Given the description of an element on the screen output the (x, y) to click on. 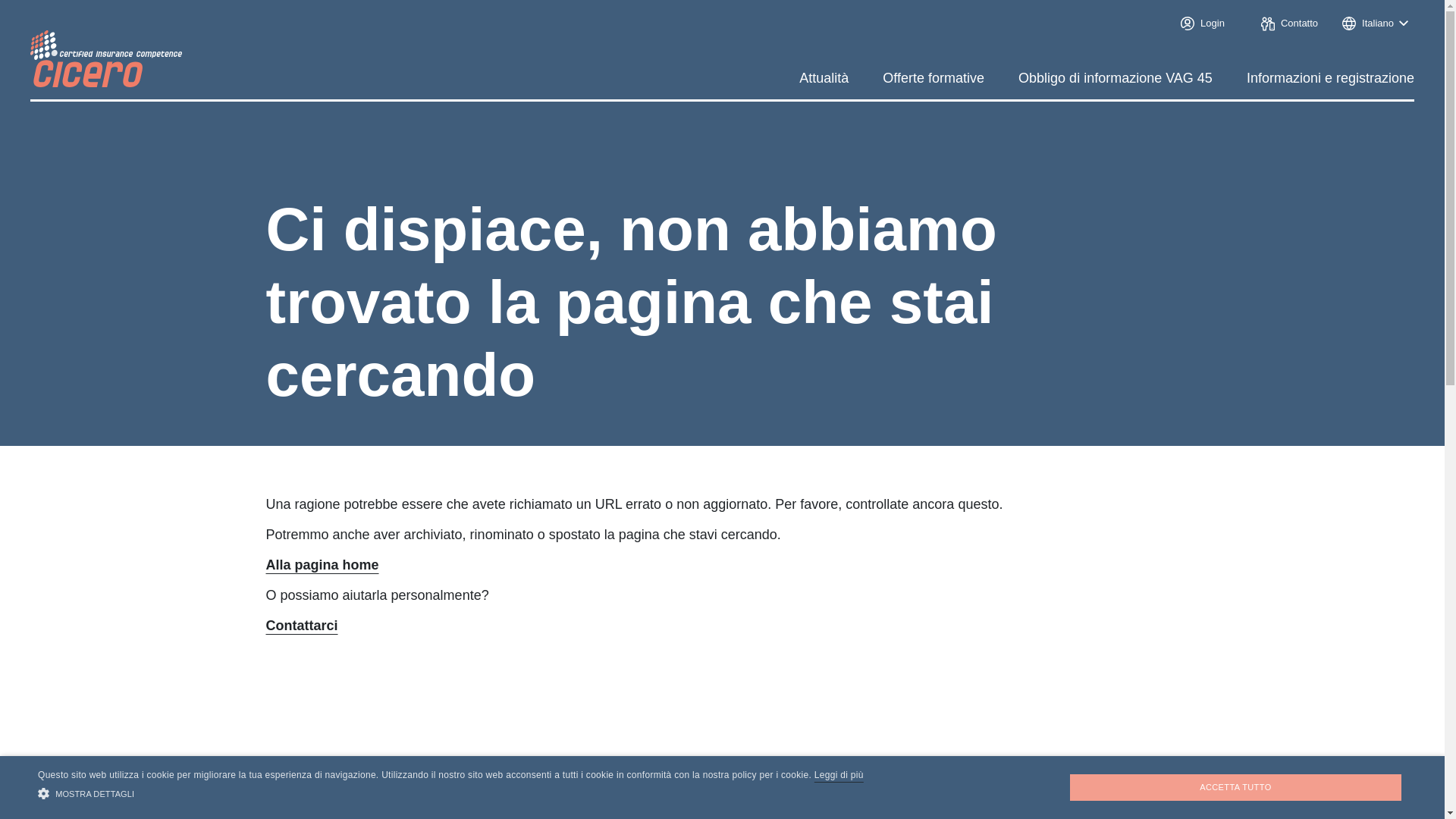
Contatto Element type: text (1286, 23)
Informazioni e registrazione Element type: text (1330, 77)
Offerte formative Element type: text (933, 77)
Obbligo di informazione VAG 45 Element type: text (1115, 77)
Alla pagina home Element type: text (321, 564)
Italiano Element type: text (1375, 23)
Login Element type: text (1199, 23)
Contattarci Element type: text (301, 625)
